Given the description of an element on the screen output the (x, y) to click on. 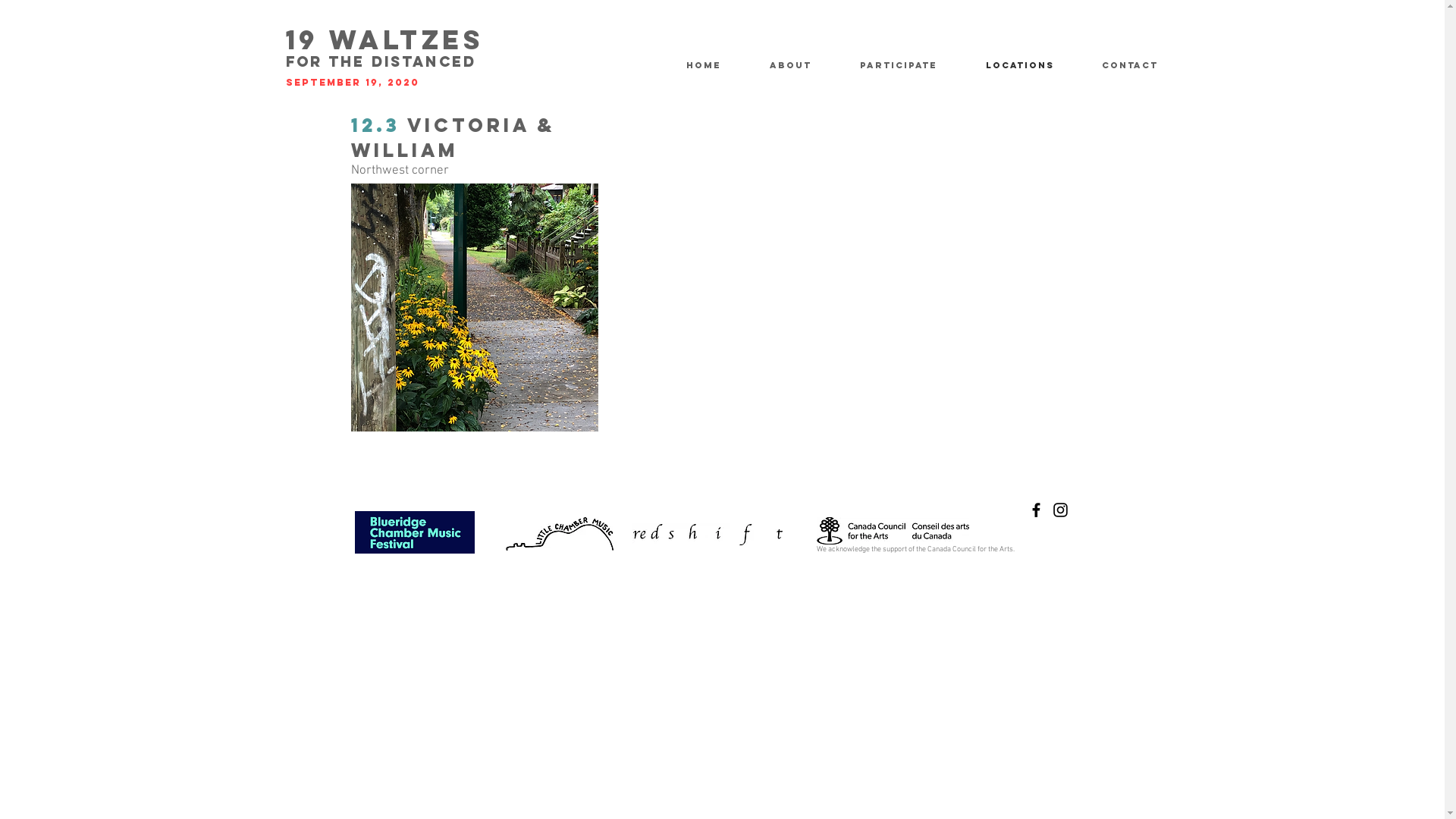
Home Element type: text (716, 65)
for the distanced Element type: text (380, 63)
Contact Element type: text (1142, 65)
Participate Element type: text (910, 65)
About Element type: text (803, 65)
Locations Element type: text (1031, 65)
19 Waltzes Element type: text (384, 43)
